Given the description of an element on the screen output the (x, y) to click on. 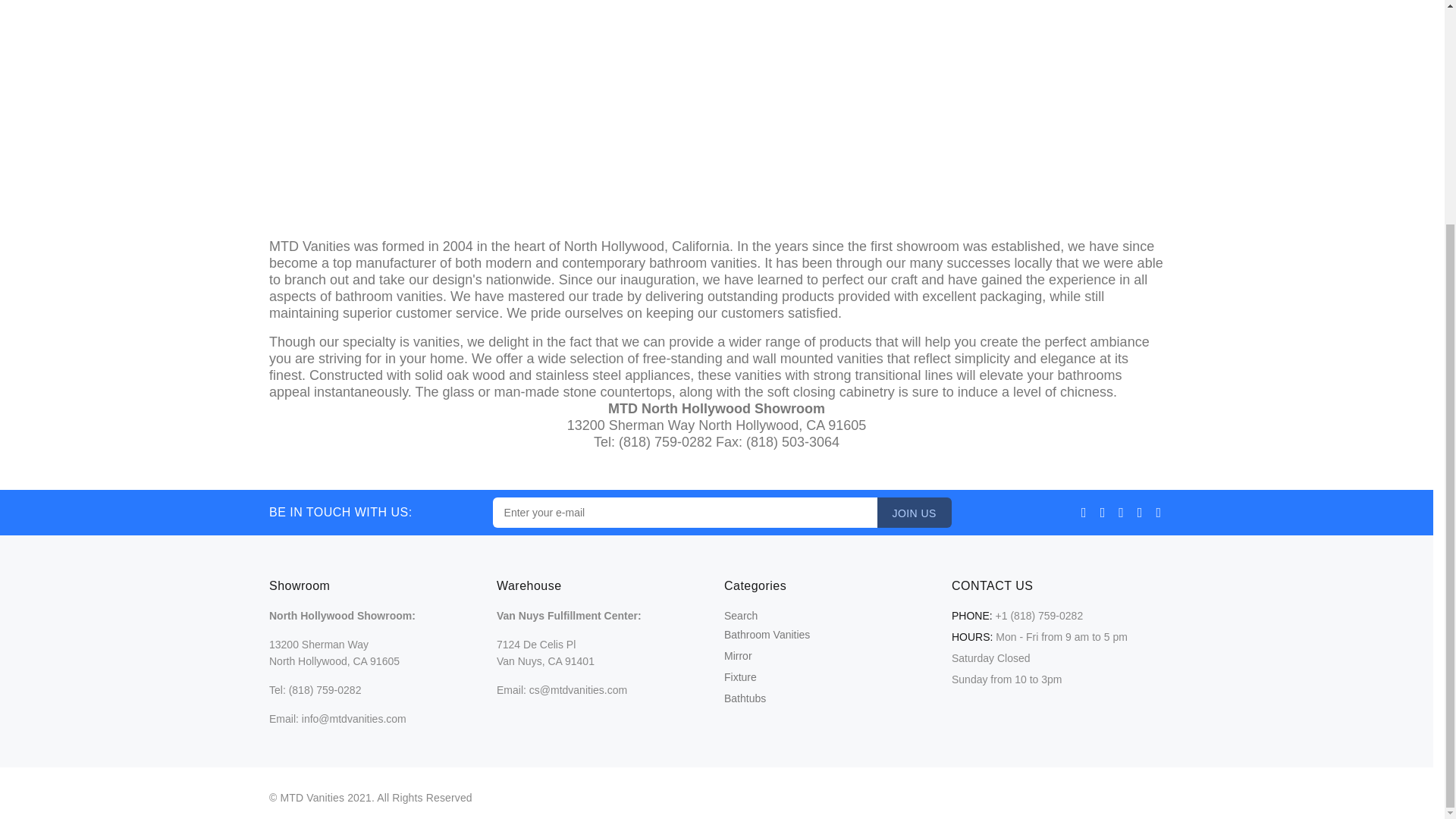
JOIN US (914, 512)
